Given the description of an element on the screen output the (x, y) to click on. 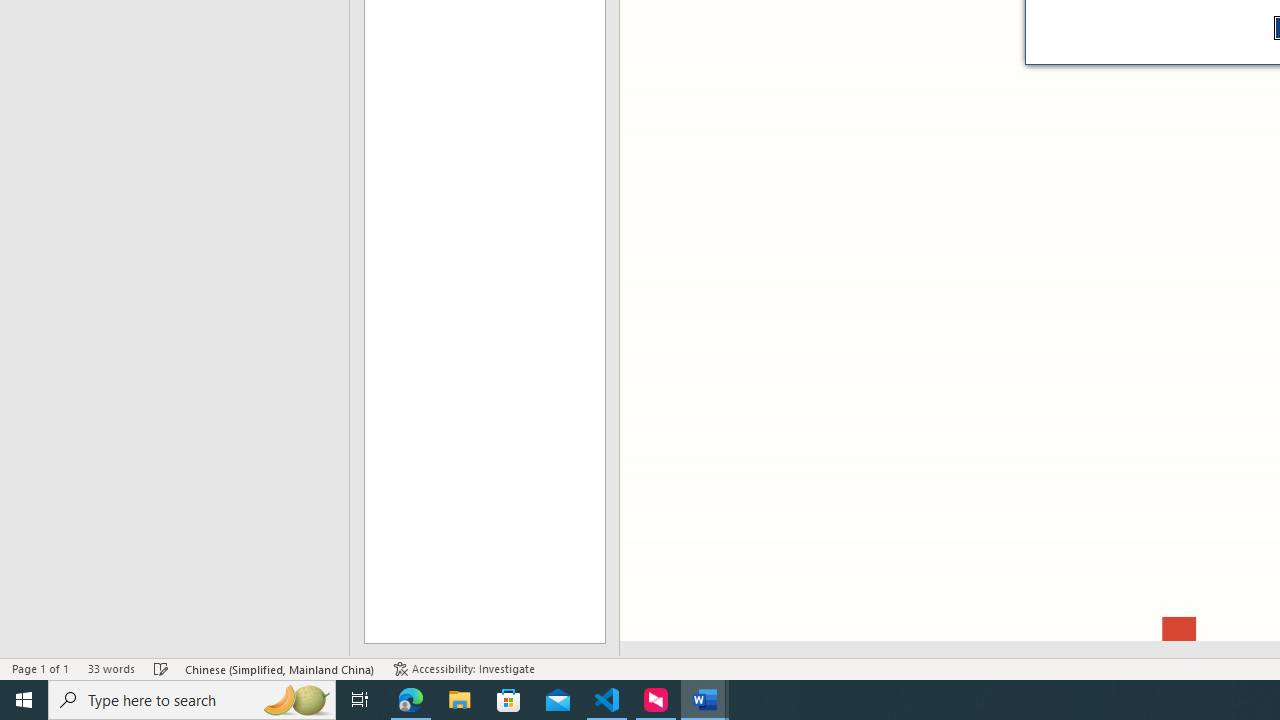
Type here to search (191, 699)
File Explorer (460, 699)
Start (24, 699)
Language Chinese (Simplified, Mainland China) (279, 668)
Spelling and Grammar Check Checking (161, 668)
Accessibility Checker Accessibility: Investigate (464, 668)
Task View (359, 699)
Microsoft Store (509, 699)
Microsoft Edge - 1 running window (411, 699)
Search highlights icon opens search home window (295, 699)
Visual Studio Code - 1 running window (607, 699)
Page Number Page 1 of 1 (39, 668)
Word - 2 running windows (704, 699)
